Given the description of an element on the screen output the (x, y) to click on. 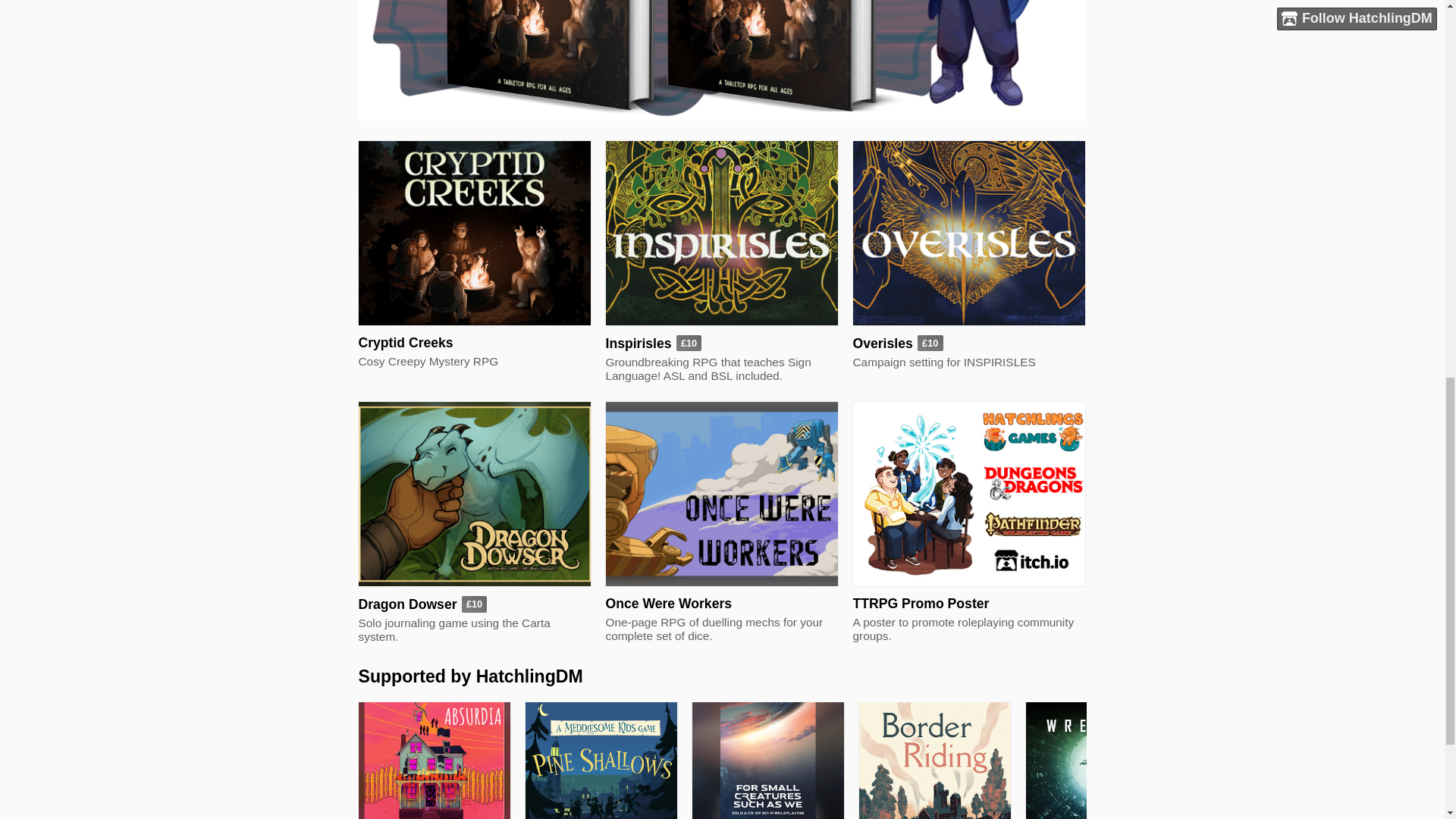
Once Were Workers (668, 603)
Cosy Creepy Mystery RPG (473, 361)
Campaign setting for INSPIRISLES (967, 362)
Inspirisles (638, 343)
Solo journaling game using the Carta system. (473, 629)
Dragon Dowser (407, 604)
Cryptid Creeks (405, 342)
TTRPG Promo Poster (919, 603)
Overisles (881, 343)
